Given the description of an element on the screen output the (x, y) to click on. 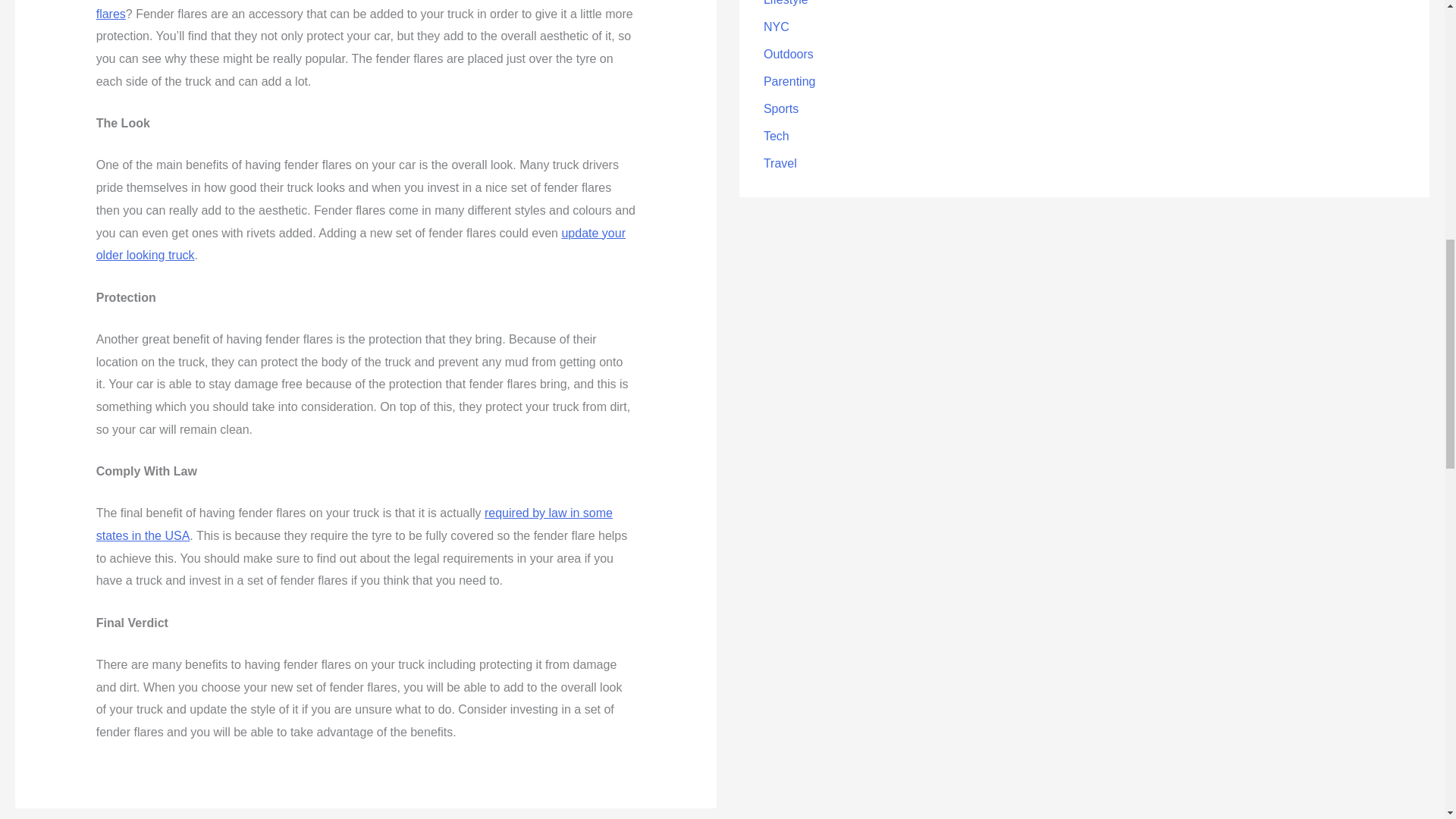
required by law in some states in the USA (354, 524)
fender flares (354, 10)
update your older looking truck (361, 243)
